Given the description of an element on the screen output the (x, y) to click on. 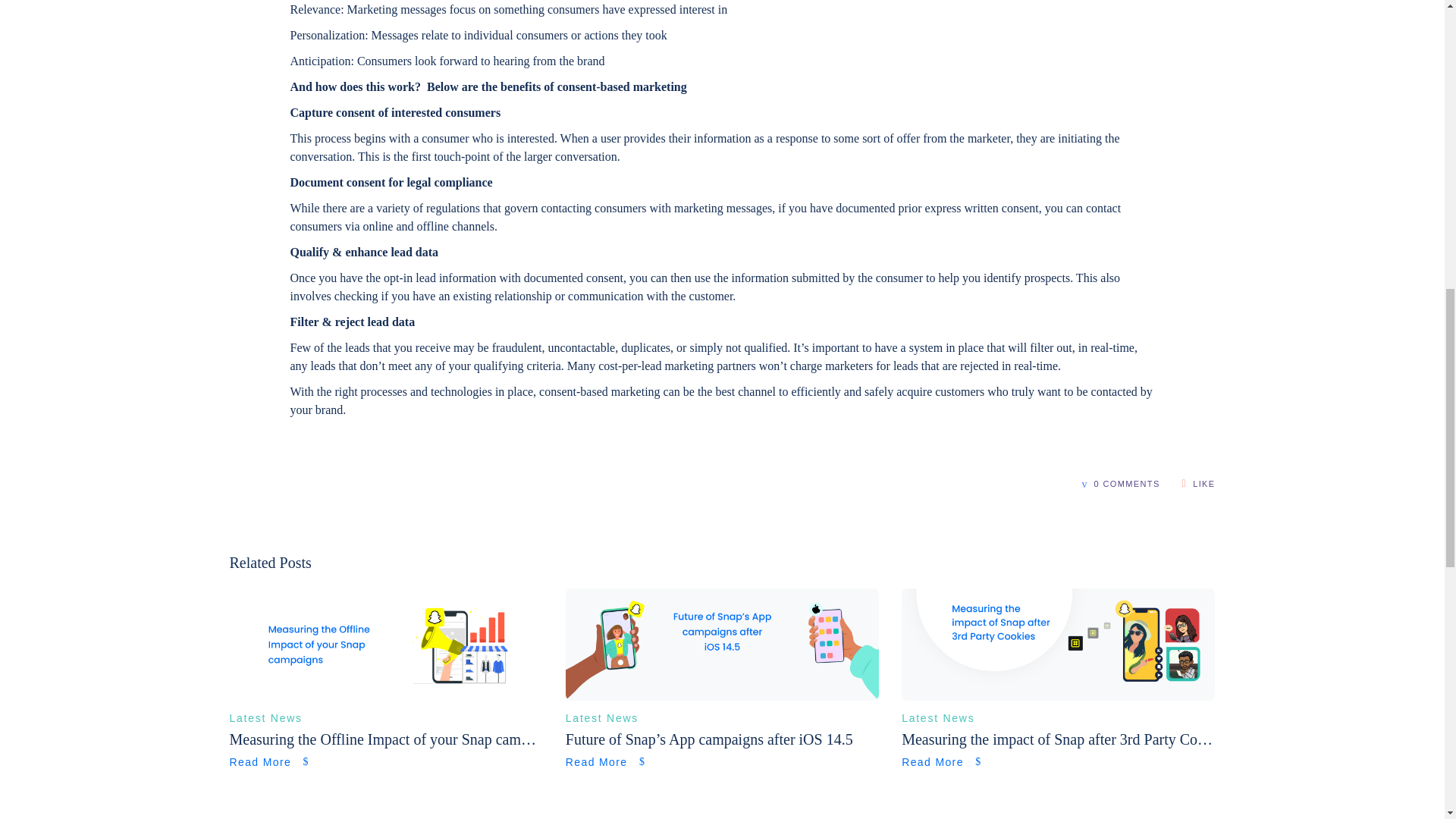
Measuring the impact of Snap after 3rd Party Cookies (1057, 696)
Like this (1198, 481)
Measuring the Offline Impact of your Snap campaigns (384, 739)
Measuring the Offline Impact of your Snap campaigns (384, 696)
Measuring the impact of Snap after 3rd Party Cookies (1057, 739)
